Given the description of an element on the screen output the (x, y) to click on. 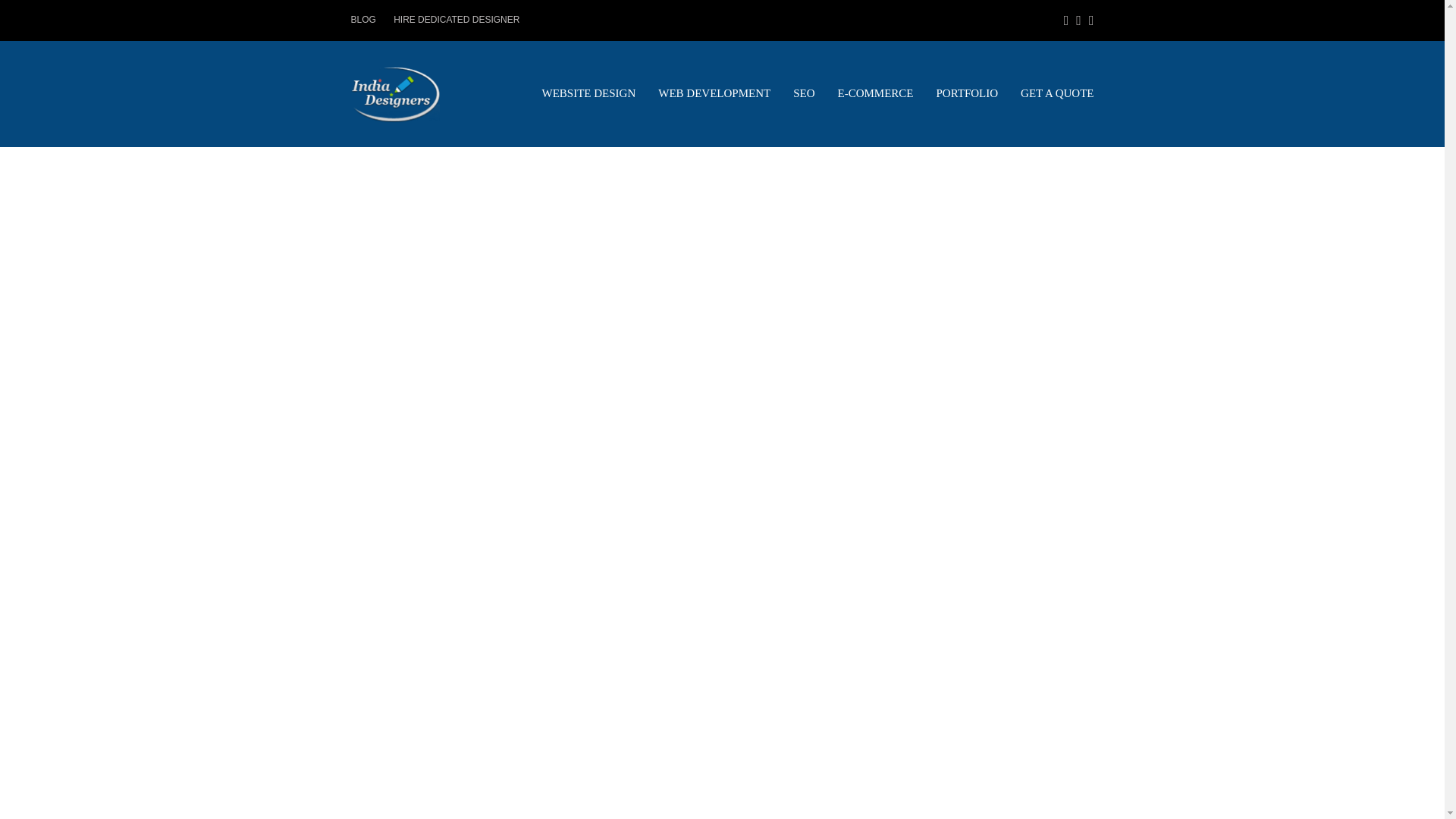
BLOG (362, 19)
GET A QUOTE (1057, 94)
E-COMMERCE (874, 94)
WEB DEVELOPMENT (713, 94)
WEBSITE DESIGN (587, 94)
SEO (803, 94)
HIRE DEDICATED DESIGNER (456, 19)
PORTFOLIO (967, 94)
